Given the description of an element on the screen output the (x, y) to click on. 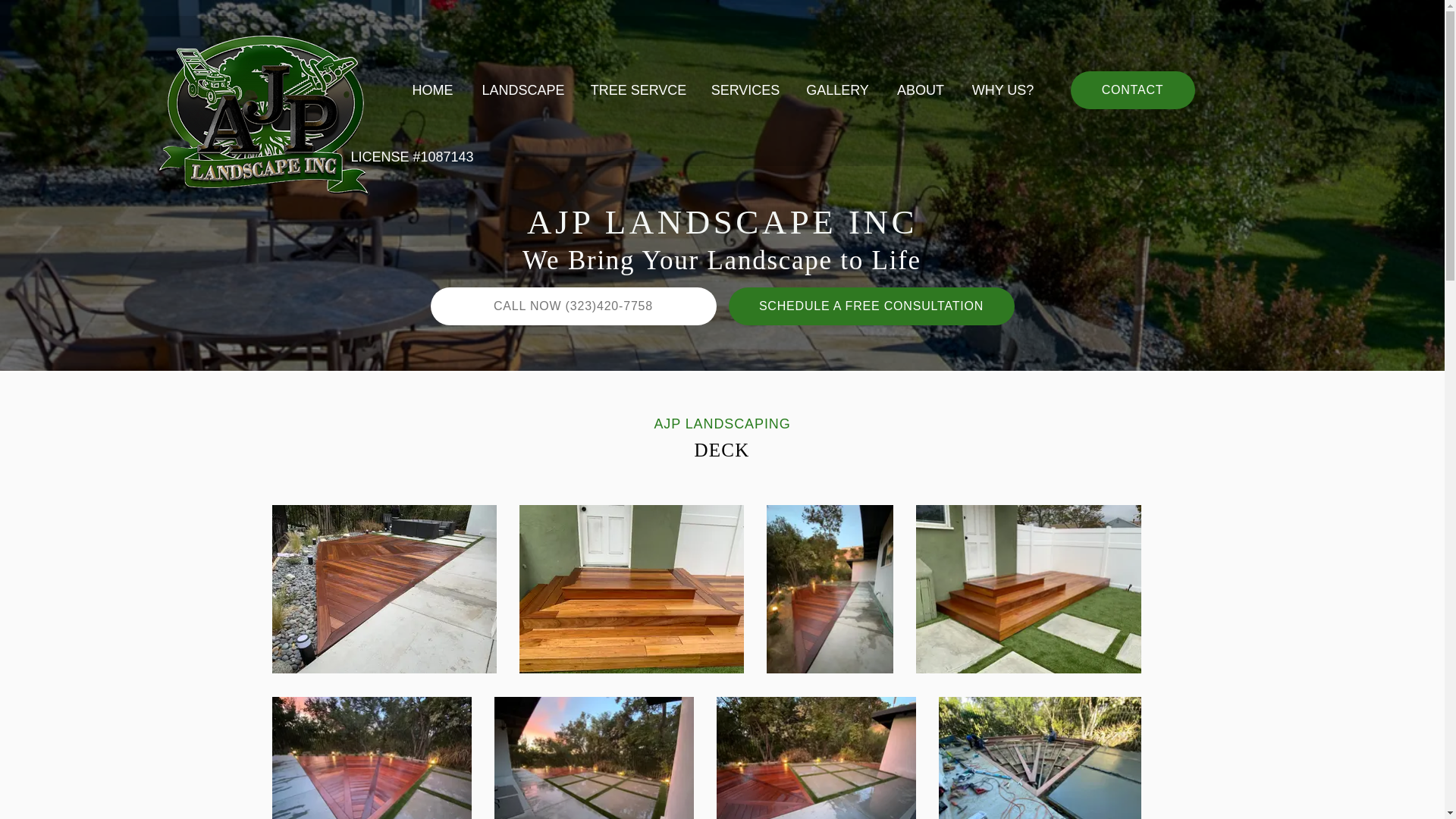
SCHEDULE A FREE CONSULTATION (870, 306)
ABOUT (920, 89)
HOME (432, 89)
GALLERY (837, 89)
SERVICES (744, 89)
WHY US? (1002, 89)
AJP.jpg (261, 112)
LANDSCAPE (522, 89)
TREE SERVCE (637, 89)
CONTACT (1132, 89)
